Given the description of an element on the screen output the (x, y) to click on. 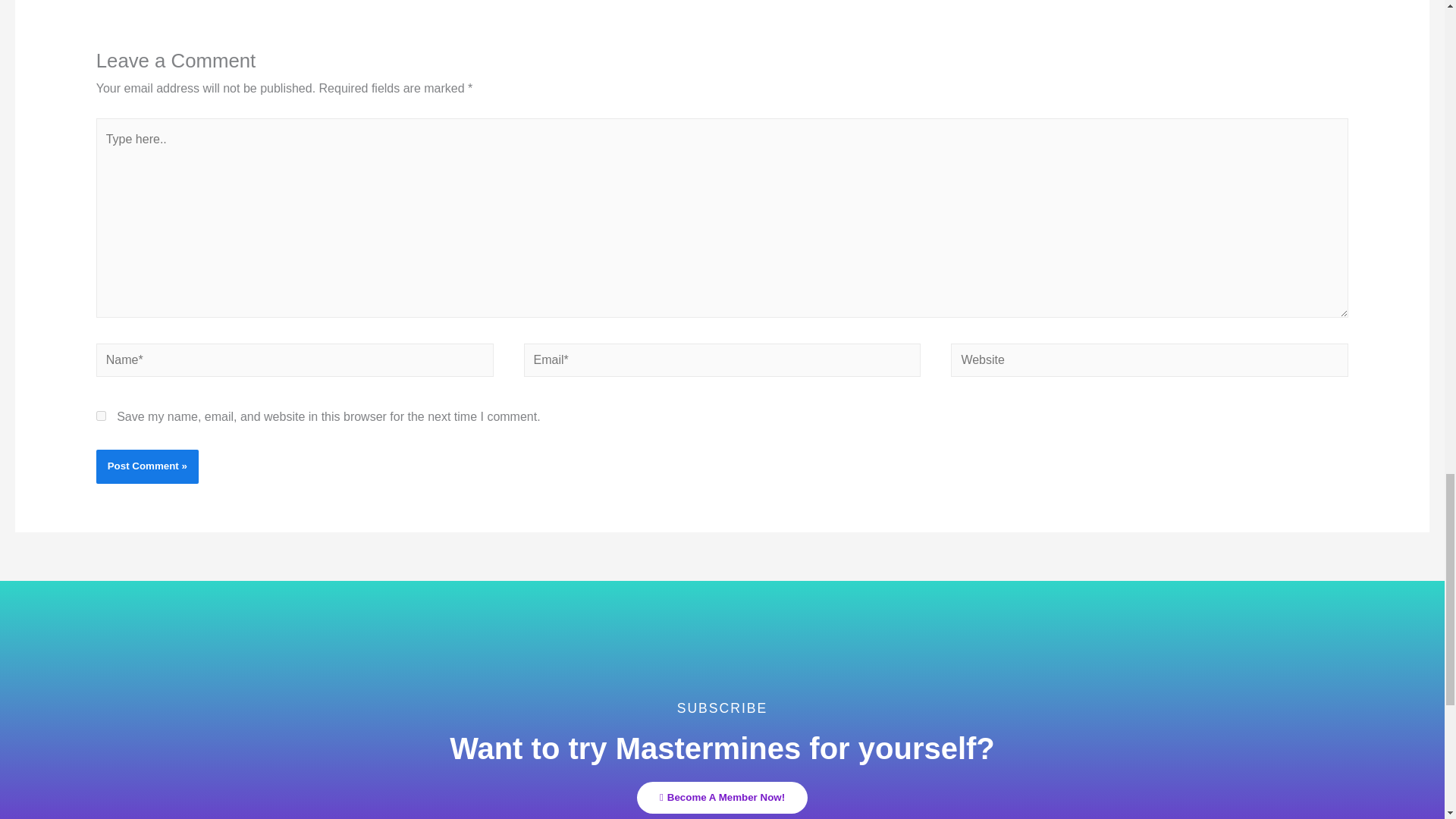
yes (101, 415)
Become A Member Now! (722, 797)
